Given the description of an element on the screen output the (x, y) to click on. 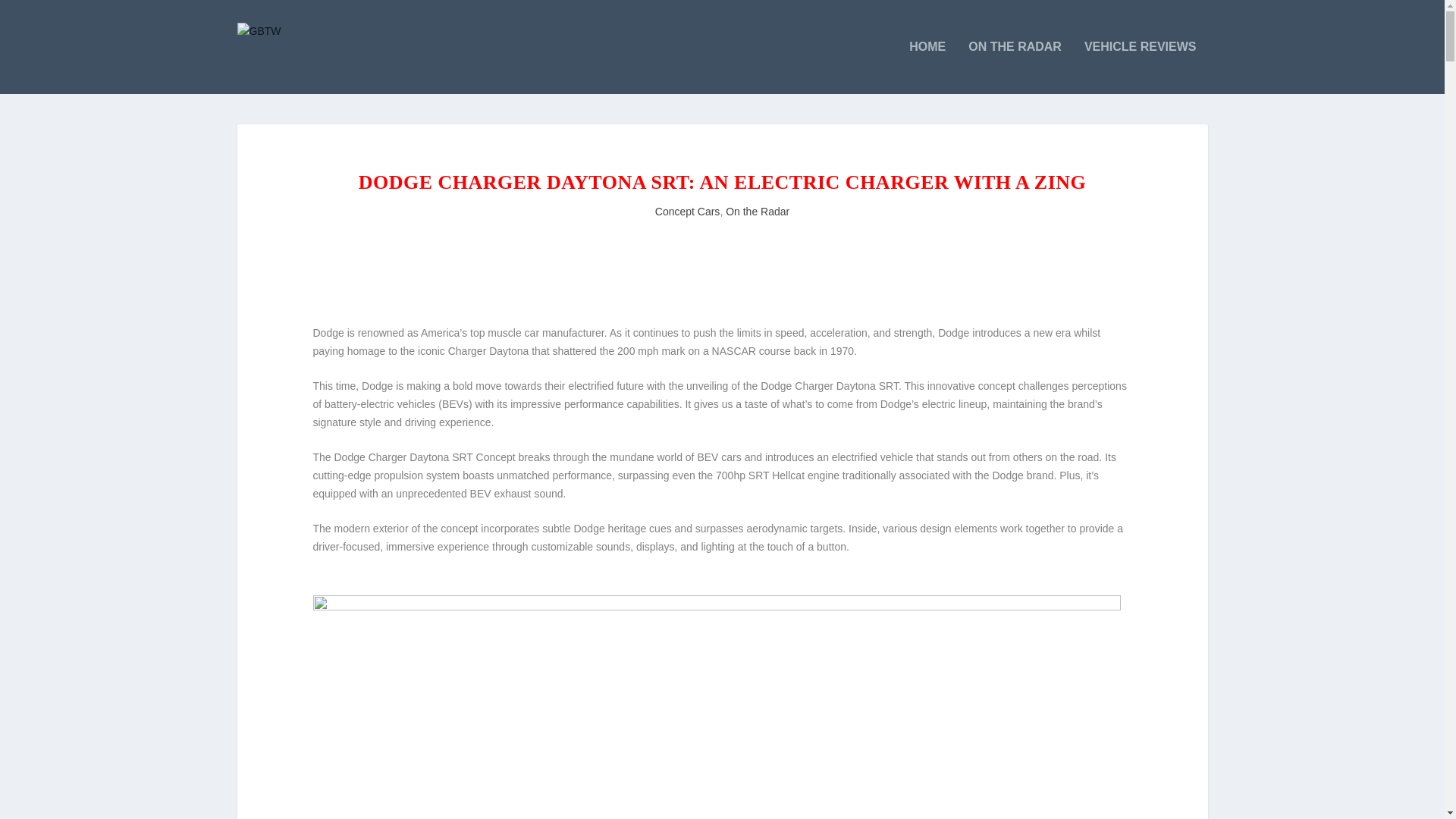
VEHICLE REVIEWS (1140, 67)
Concept Cars (687, 211)
ON THE RADAR (1014, 67)
On the Radar (757, 211)
